Given the description of an element on the screen output the (x, y) to click on. 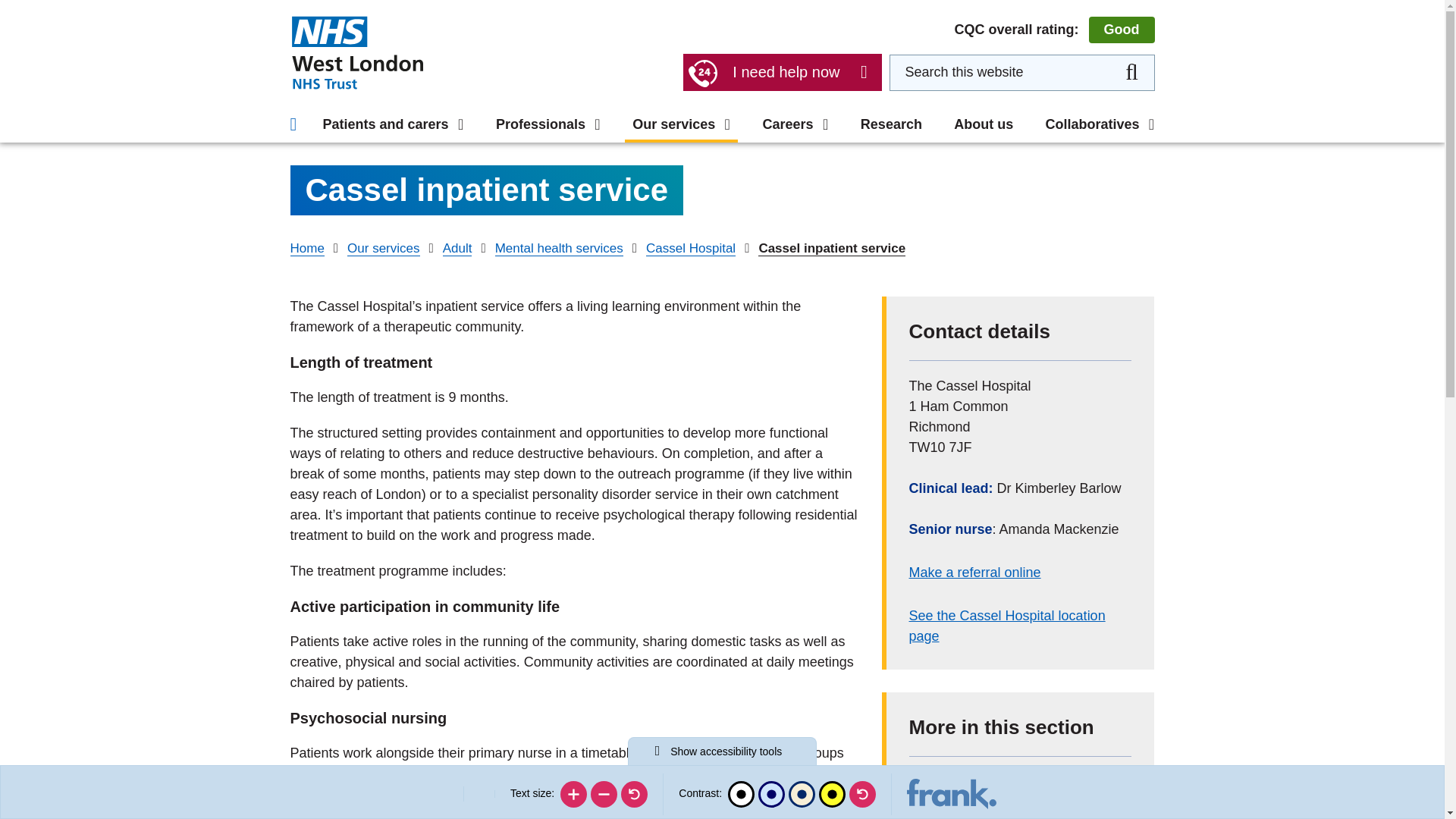
I need help now (781, 72)
Professionals (362, 4)
Your rights (333, 45)
Professionals (547, 124)
Our locations (341, 14)
Child and adolescent mental health services referrals (713, 59)
Homepage (356, 51)
West London learning (973, 85)
NICE guidance (949, 49)
Our services (681, 124)
